Given the description of an element on the screen output the (x, y) to click on. 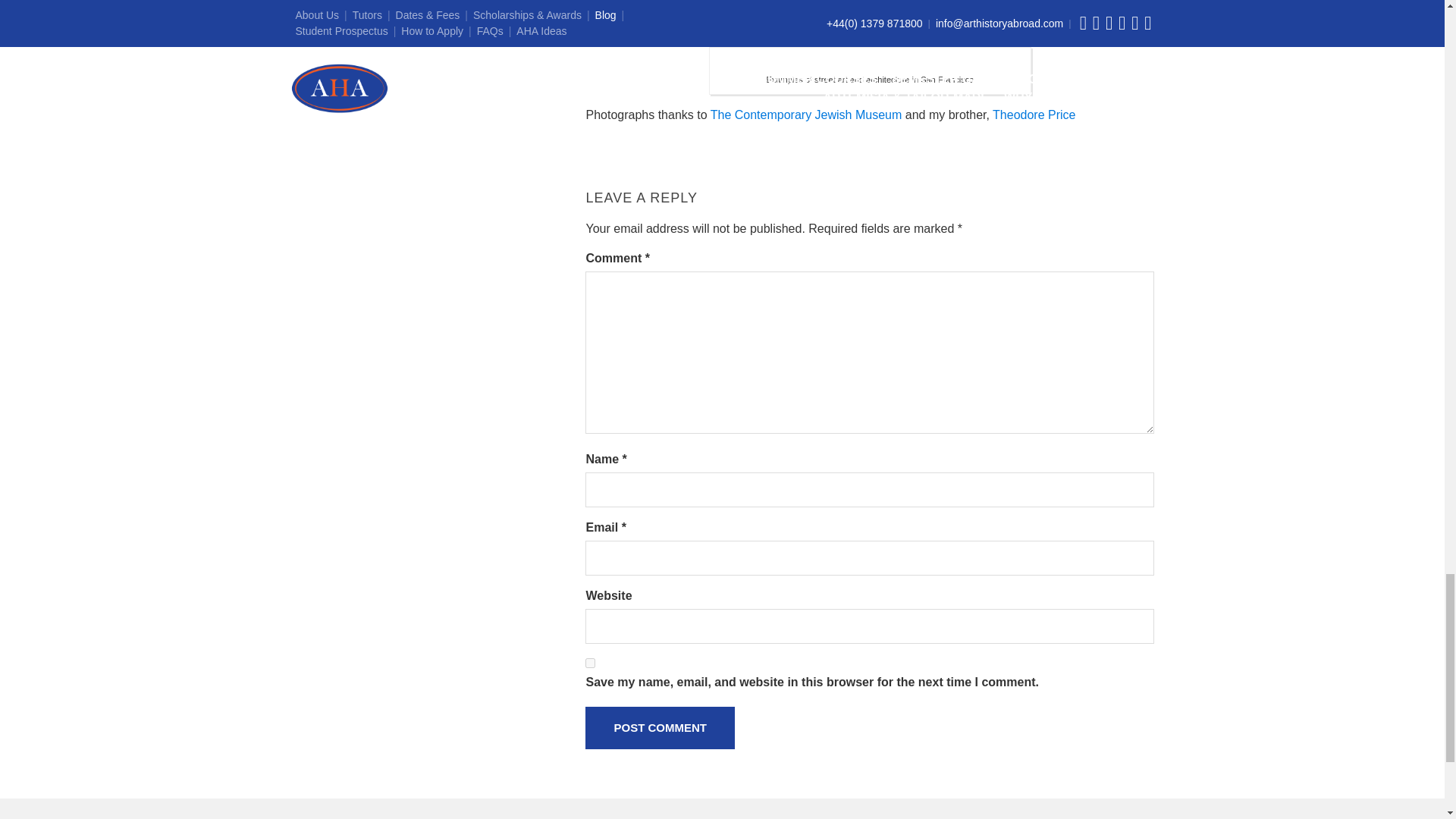
yes (590, 663)
Post Comment (660, 728)
